Given the description of an element on the screen output the (x, y) to click on. 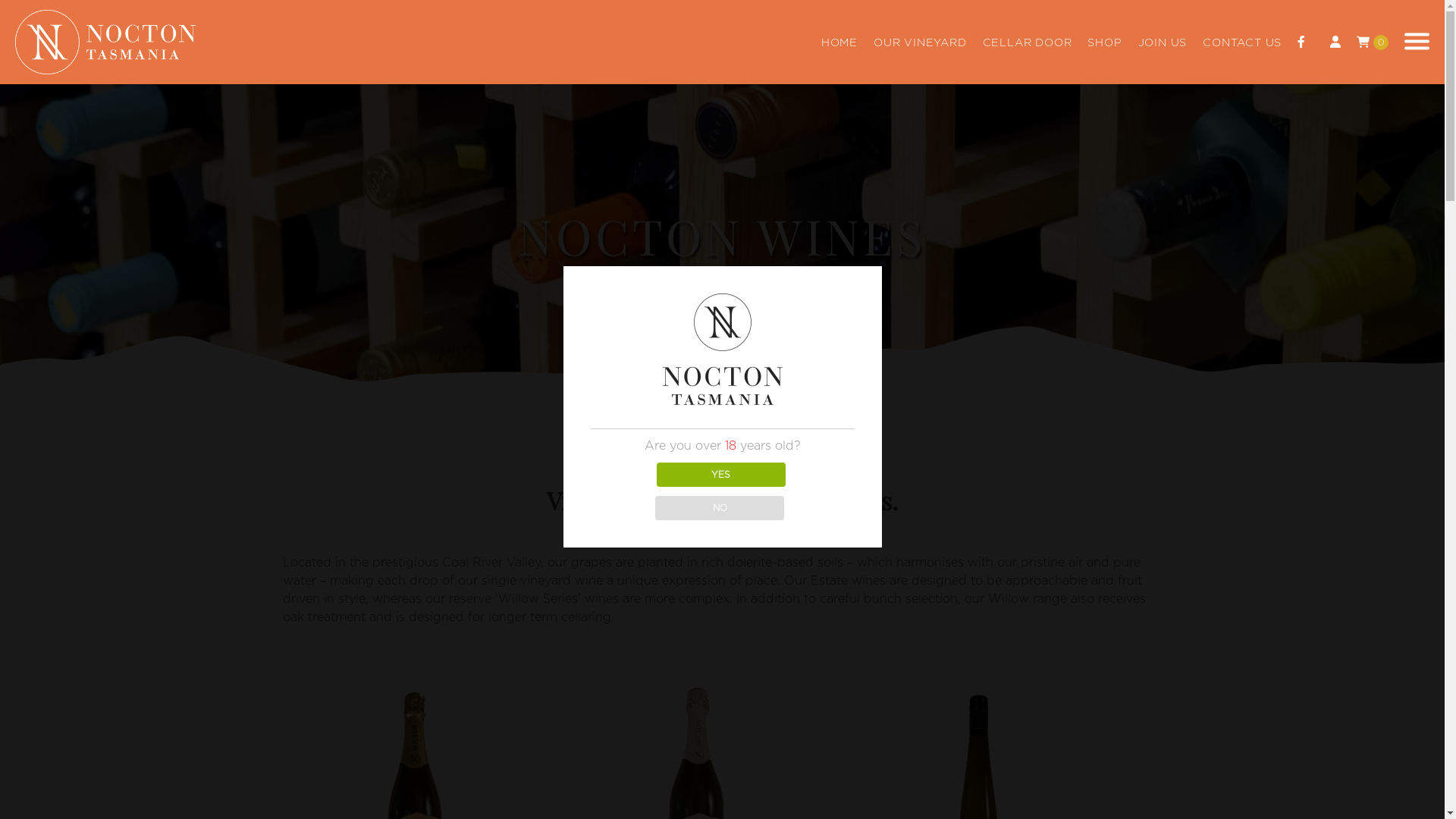
JOIN US Element type: text (1162, 42)
NO Element type: text (719, 507)
CELLAR DOOR Element type: text (1027, 42)
HOME Element type: text (839, 42)
SHOP Element type: text (1104, 42)
YES Element type: text (721, 474)
CONTACT US Element type: text (1241, 42)
OUR VINEYARD Element type: text (919, 42)
Search Element type: text (29, 9)
0 Element type: text (1372, 42)
